Given the description of an element on the screen output the (x, y) to click on. 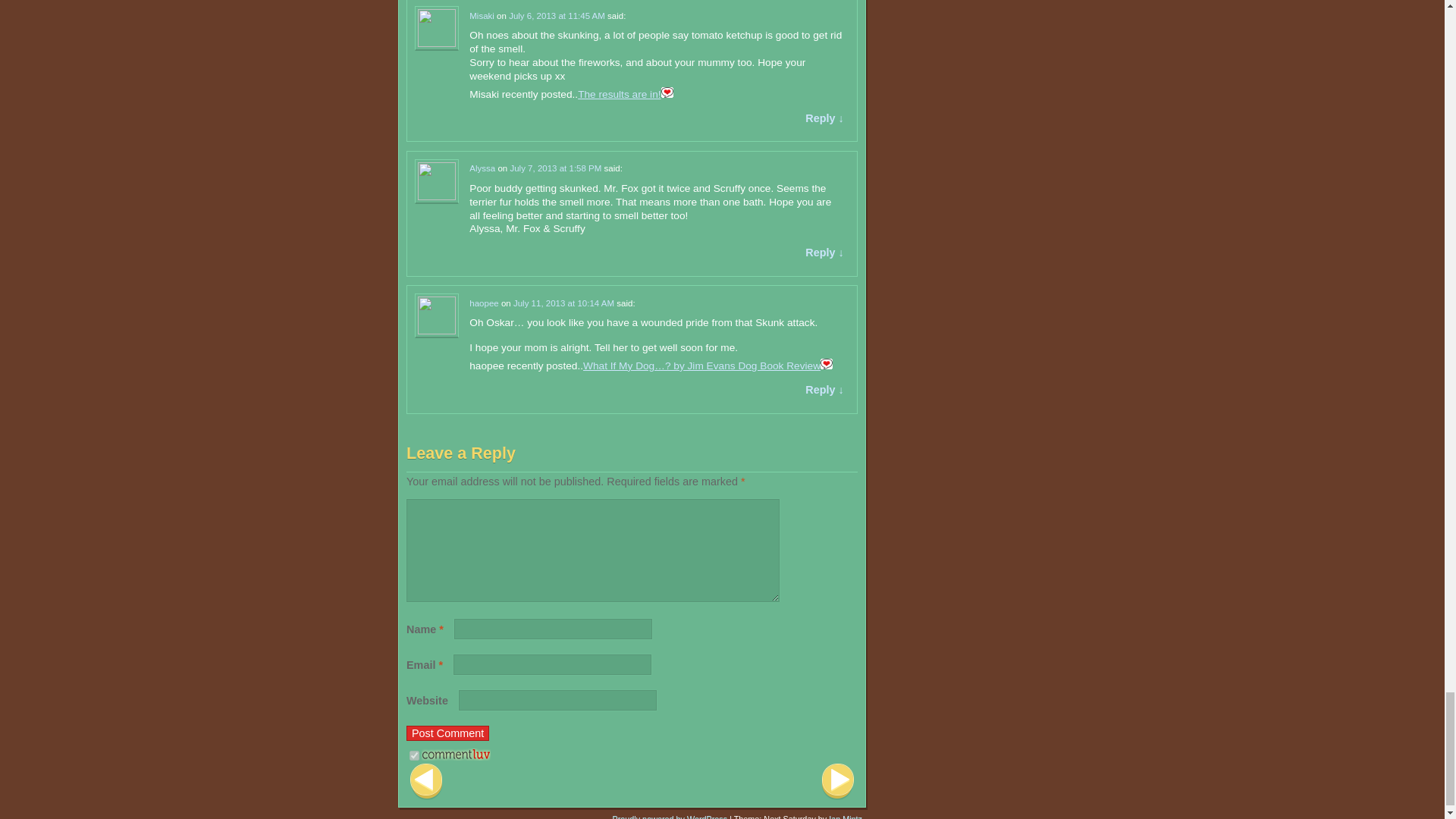
CommentLuv is enabled (456, 756)
Post Comment (447, 733)
on (414, 755)
